Given the description of an element on the screen output the (x, y) to click on. 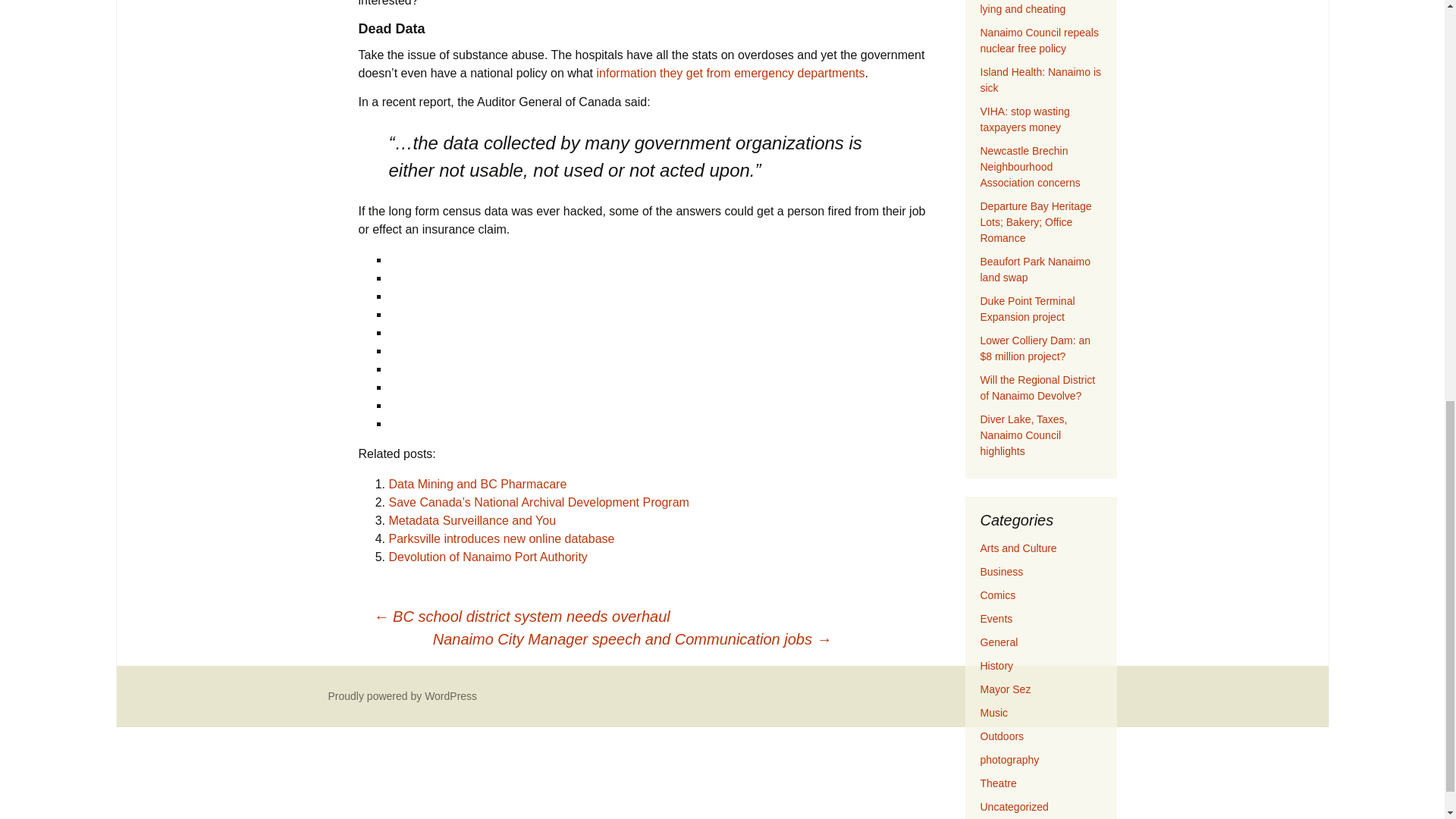
information they get from emergency departments (729, 72)
